Given the description of an element on the screen output the (x, y) to click on. 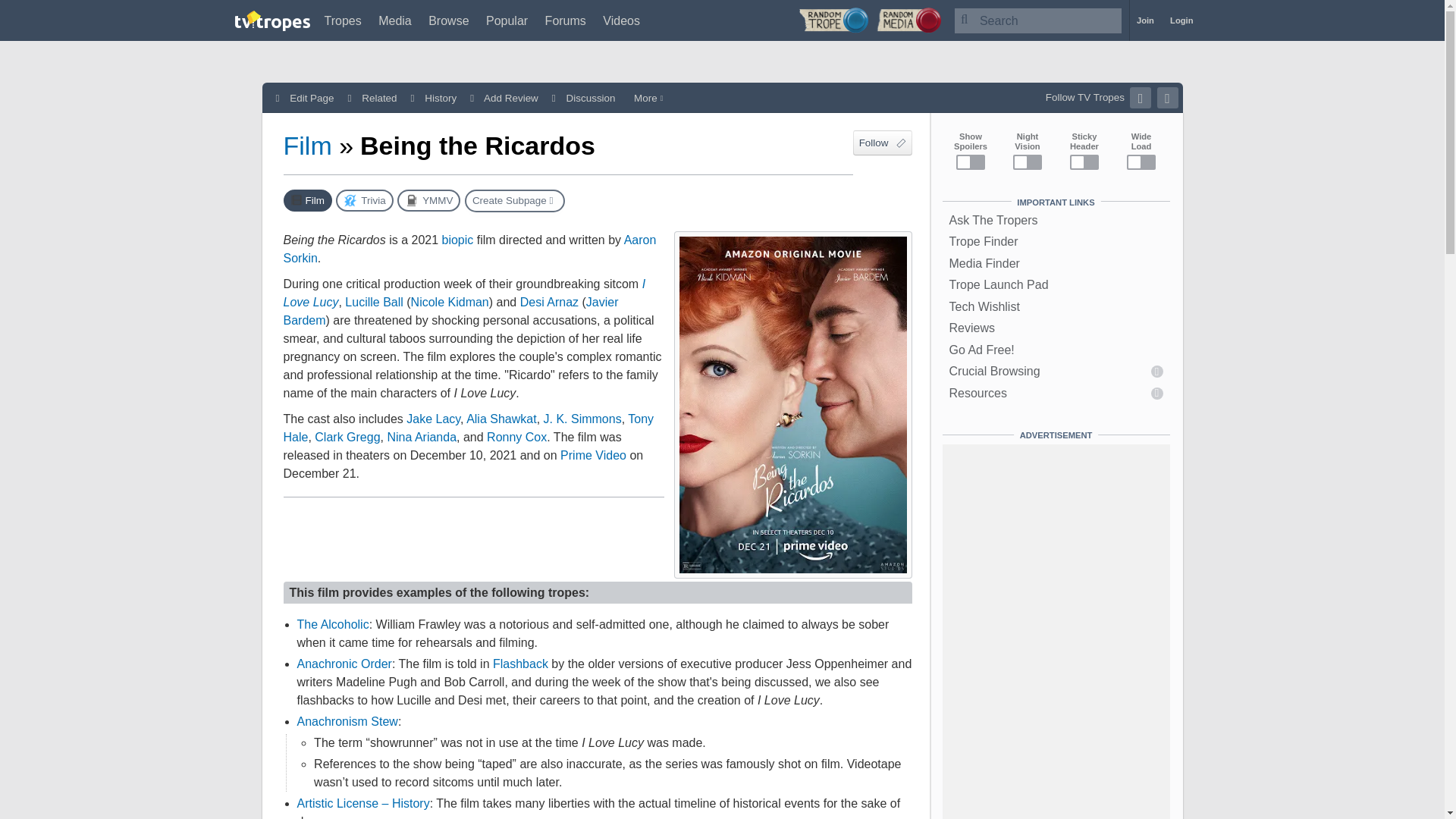
Forums (565, 20)
The Trivia page (364, 200)
Media (395, 20)
Videos (621, 20)
Login (1181, 20)
The YMMV page (428, 200)
The Film page (307, 200)
Popular (506, 20)
Tropes (342, 20)
Browse (448, 20)
